Given the description of an element on the screen output the (x, y) to click on. 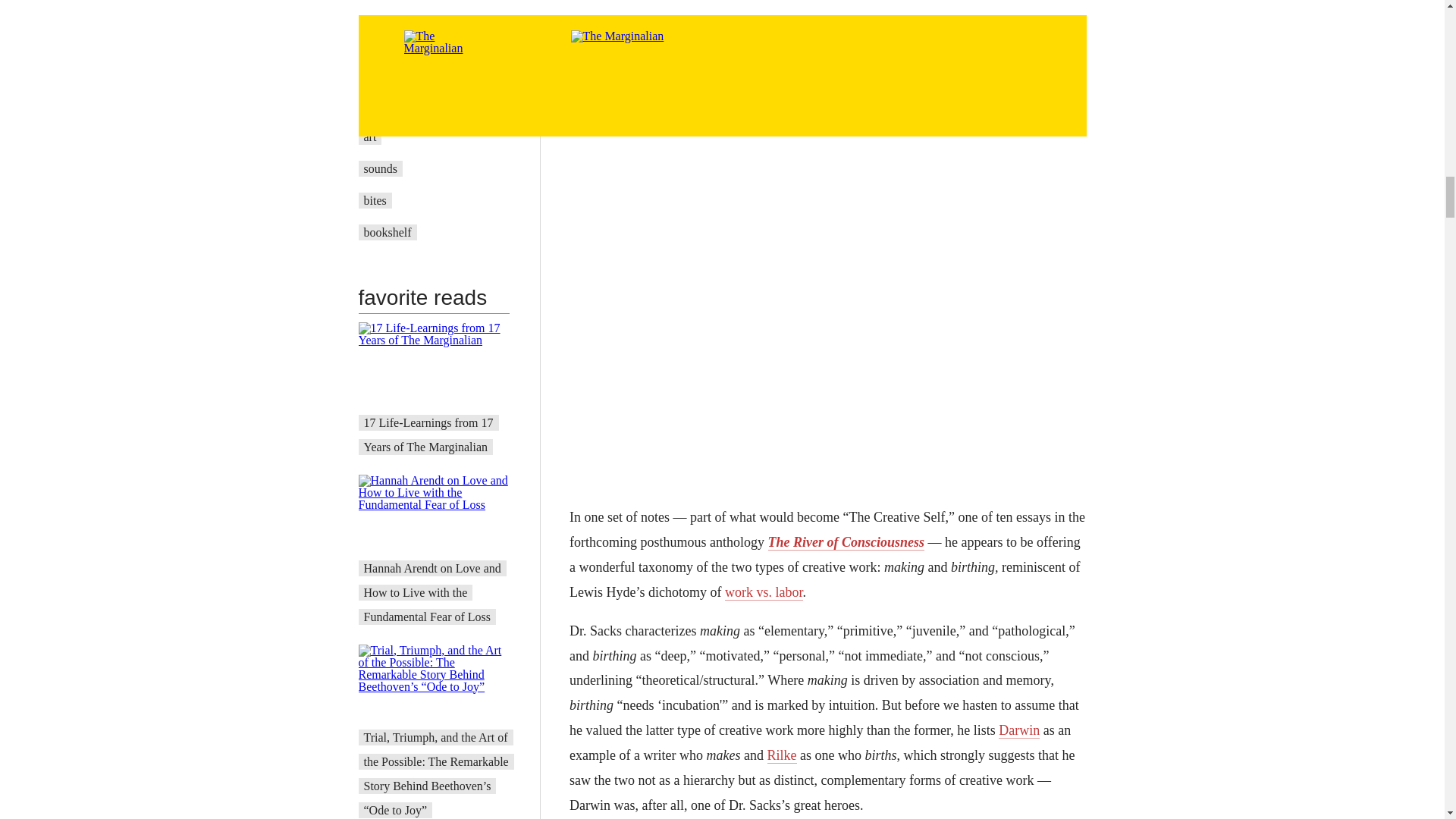
bites (375, 200)
A Velocity of Being (412, 105)
sounds (380, 168)
